Given the description of an element on the screen output the (x, y) to click on. 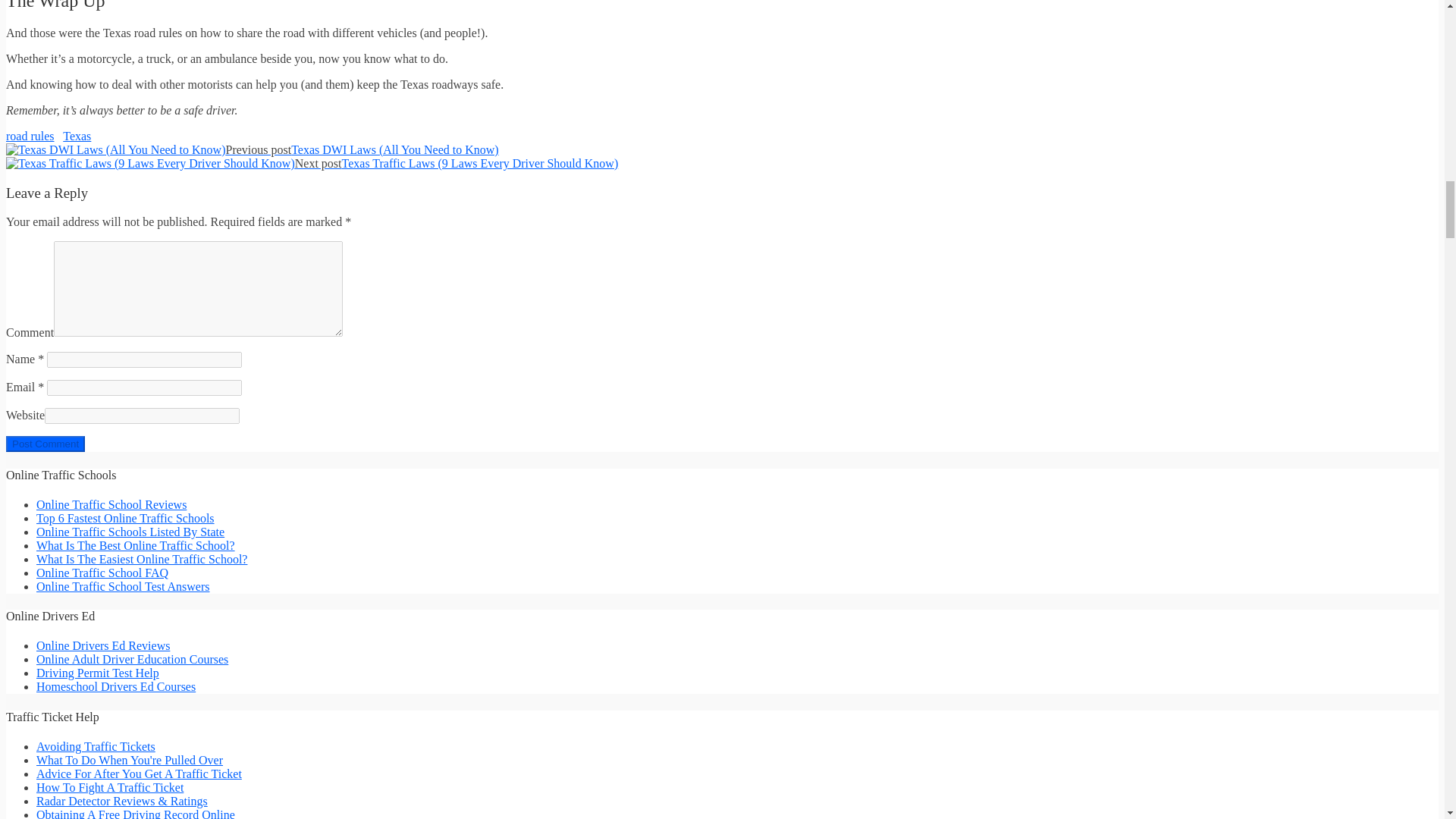
road rules (30, 135)
Post Comment (44, 443)
